Given the description of an element on the screen output the (x, y) to click on. 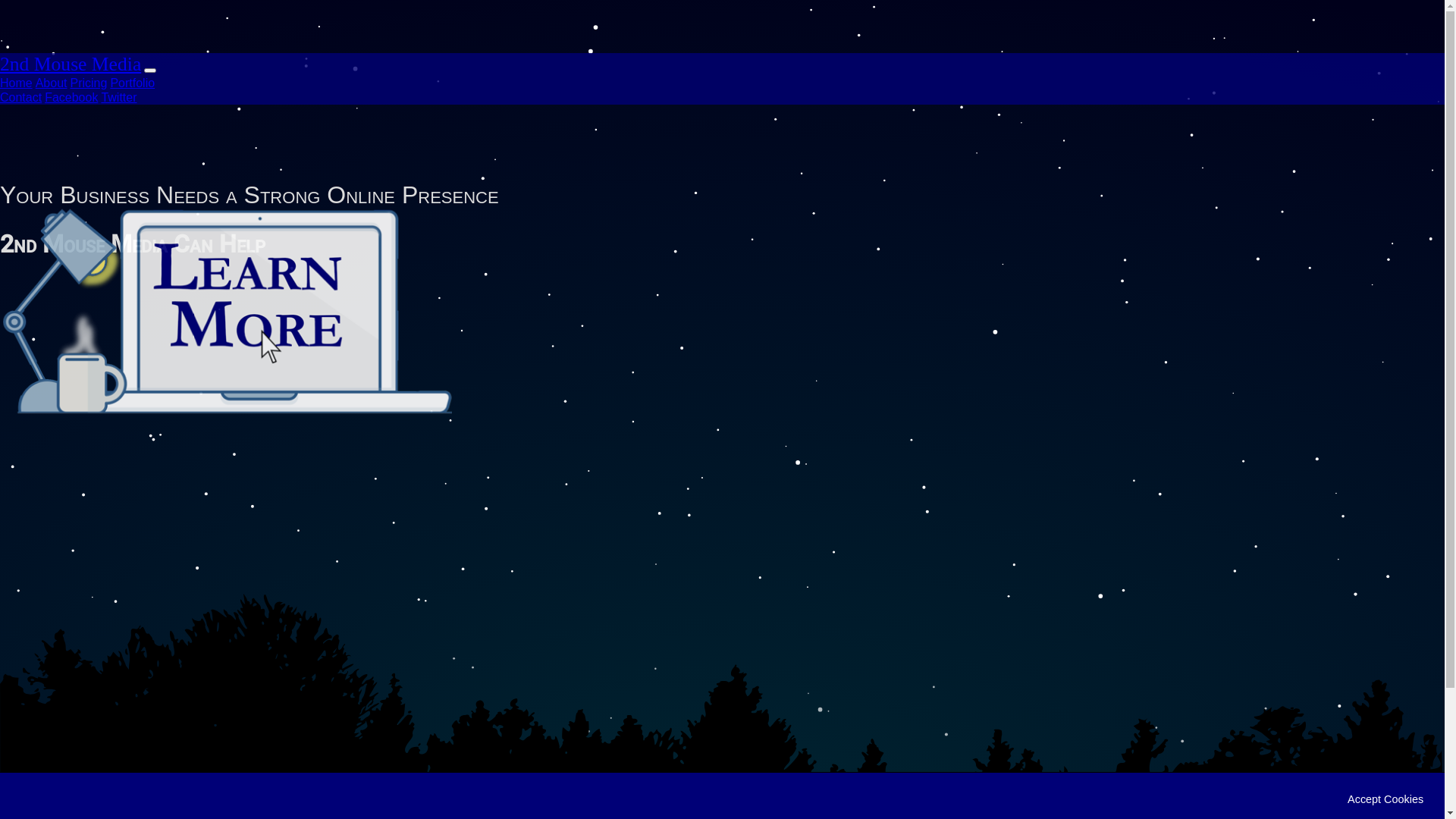
Contact Element type: text (20, 97)
Pricing Element type: text (87, 82)
2nd Mouse Media Element type: text (70, 63)
Twitter Element type: text (118, 97)
Portfolio Element type: text (131, 82)
About Element type: text (51, 82)
Facebook Element type: text (70, 97)
Home Element type: text (16, 82)
